Given the description of an element on the screen output the (x, y) to click on. 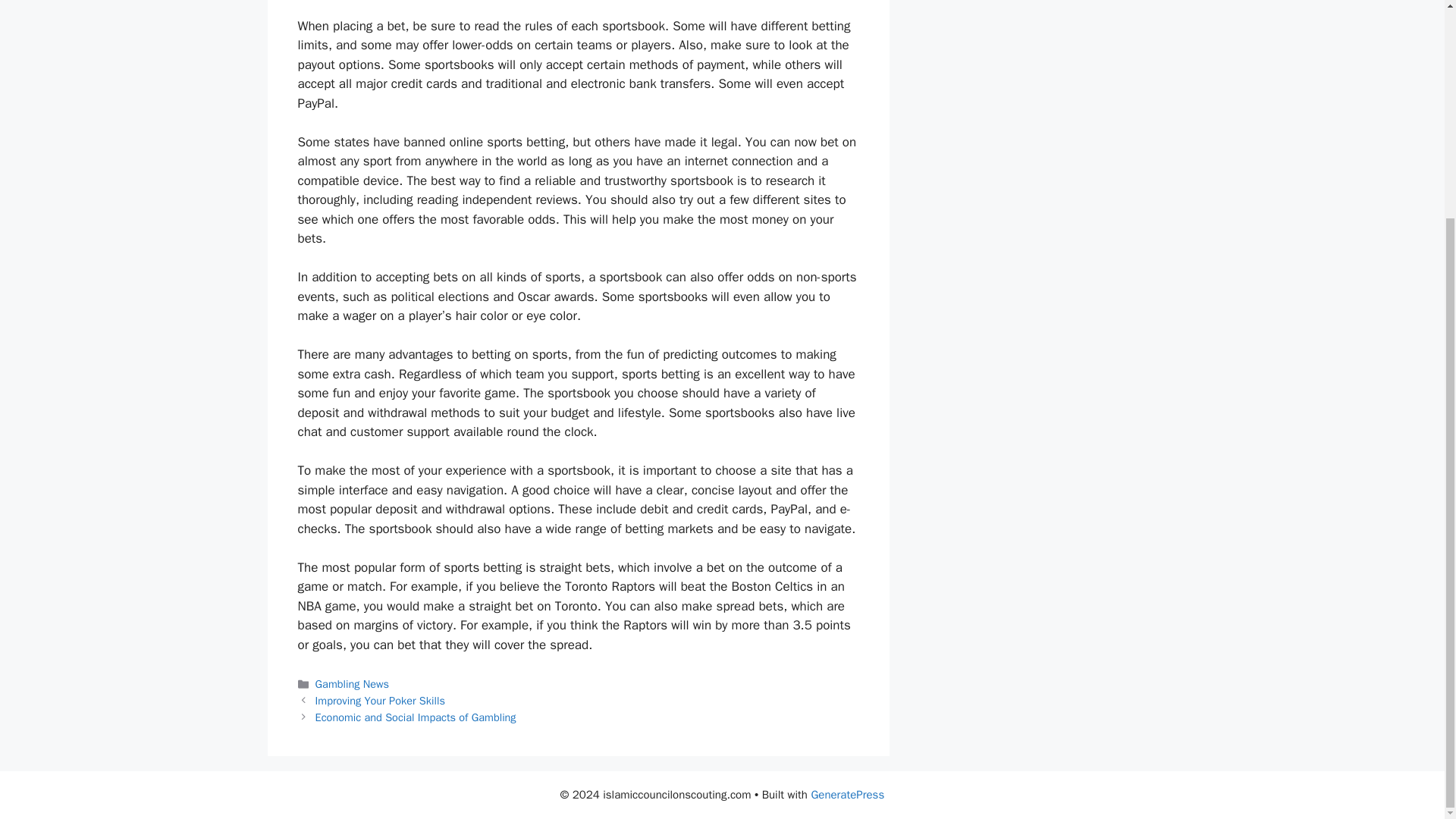
Improving Your Poker Skills (380, 700)
Gambling News (351, 684)
Economic and Social Impacts of Gambling (415, 716)
GeneratePress (846, 794)
